Given the description of an element on the screen output the (x, y) to click on. 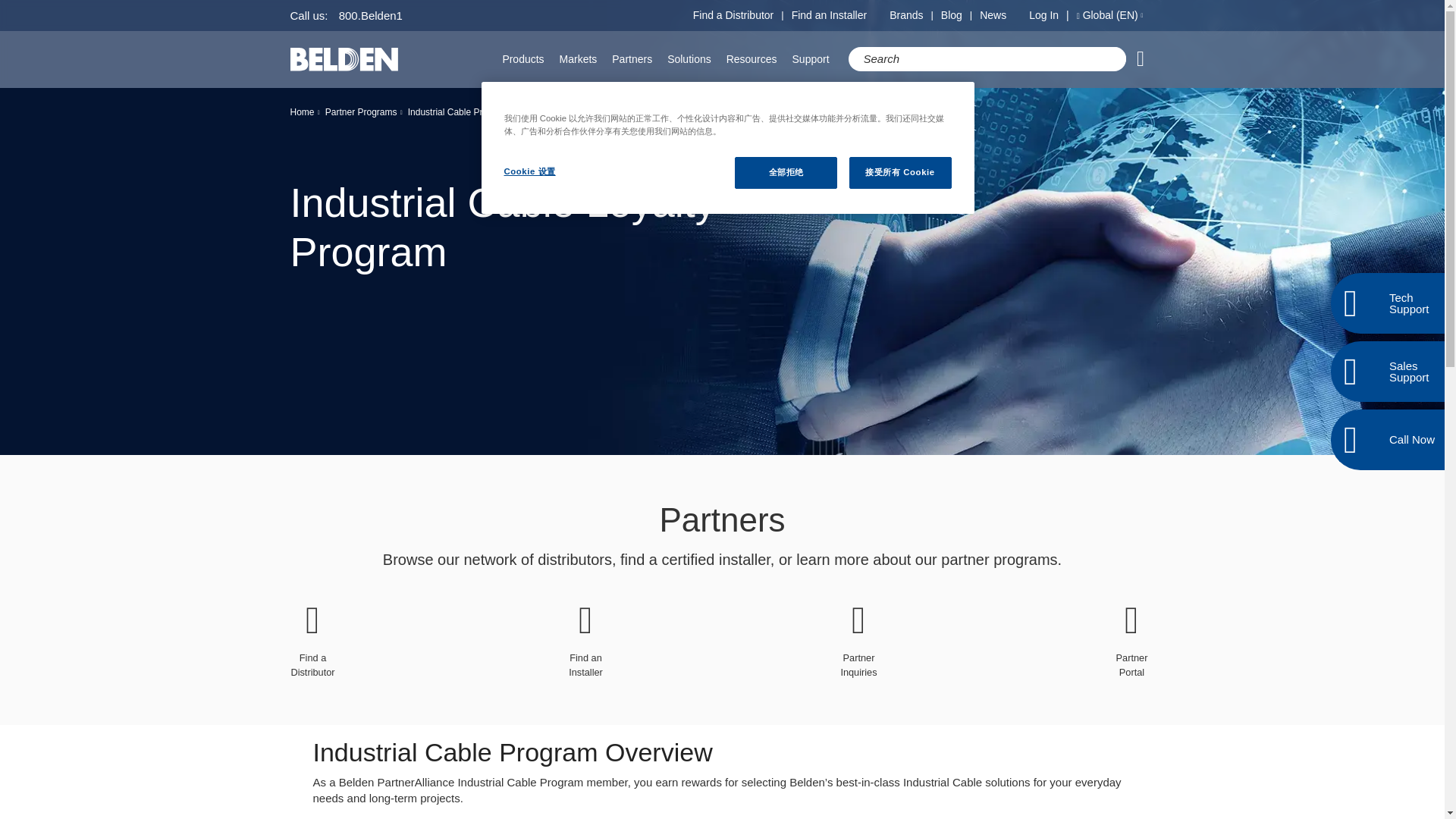
Belden (343, 59)
News (992, 15)
Find a Distributor (733, 15)
News (992, 15)
Find an Installer (829, 15)
Log In (1053, 15)
Find an Installer (829, 15)
Belden (343, 59)
Blog (951, 15)
Brands (906, 15)
Brands (906, 15)
Find a Distributor (733, 15)
Blog (951, 15)
800.Belden1 (370, 15)
